Given the description of an element on the screen output the (x, y) to click on. 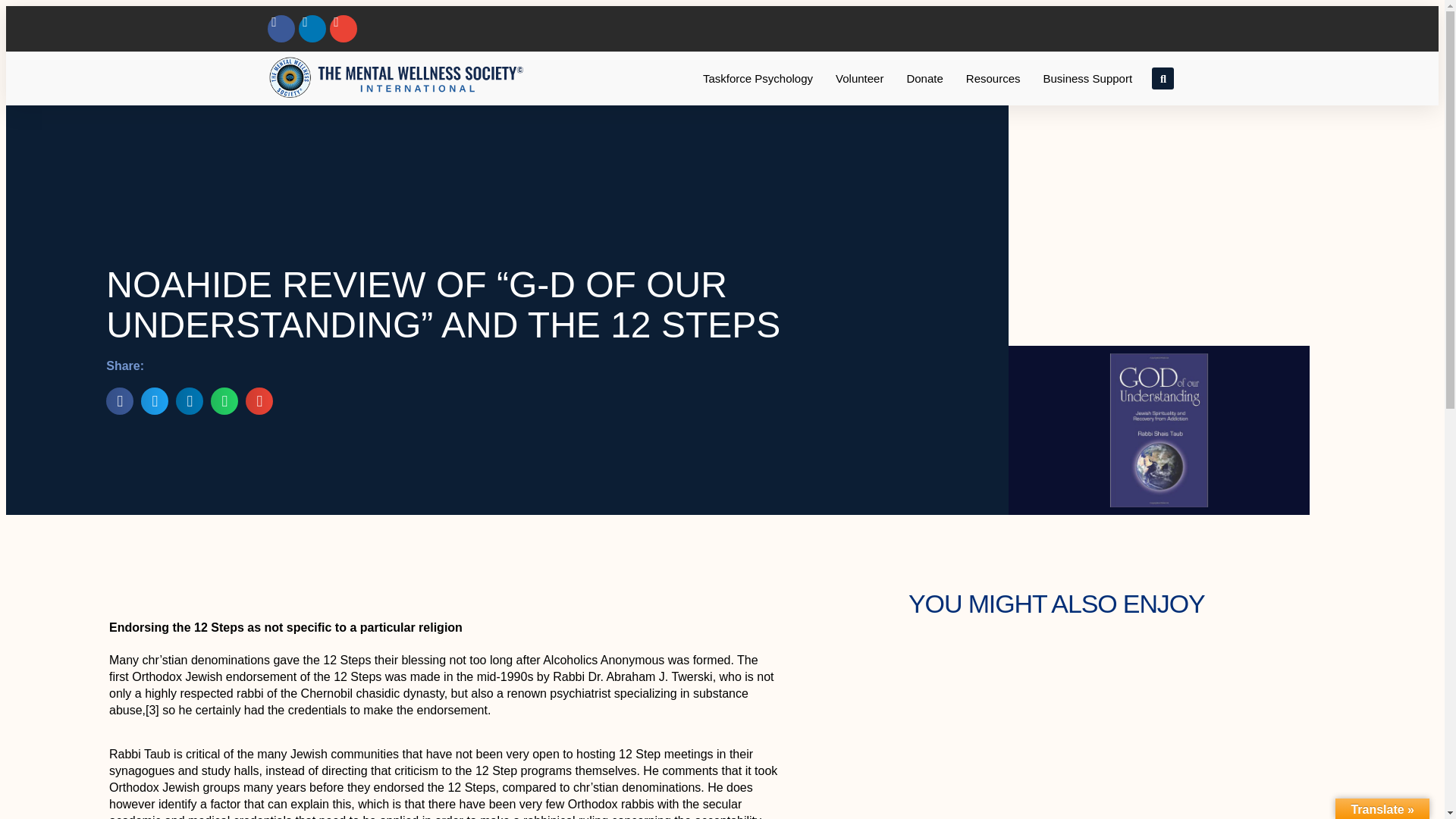
Resources (993, 78)
Donate (924, 78)
Business Support (1086, 78)
Volunteer (859, 78)
Taskforce Psychology (757, 78)
